Given the description of an element on the screen output the (x, y) to click on. 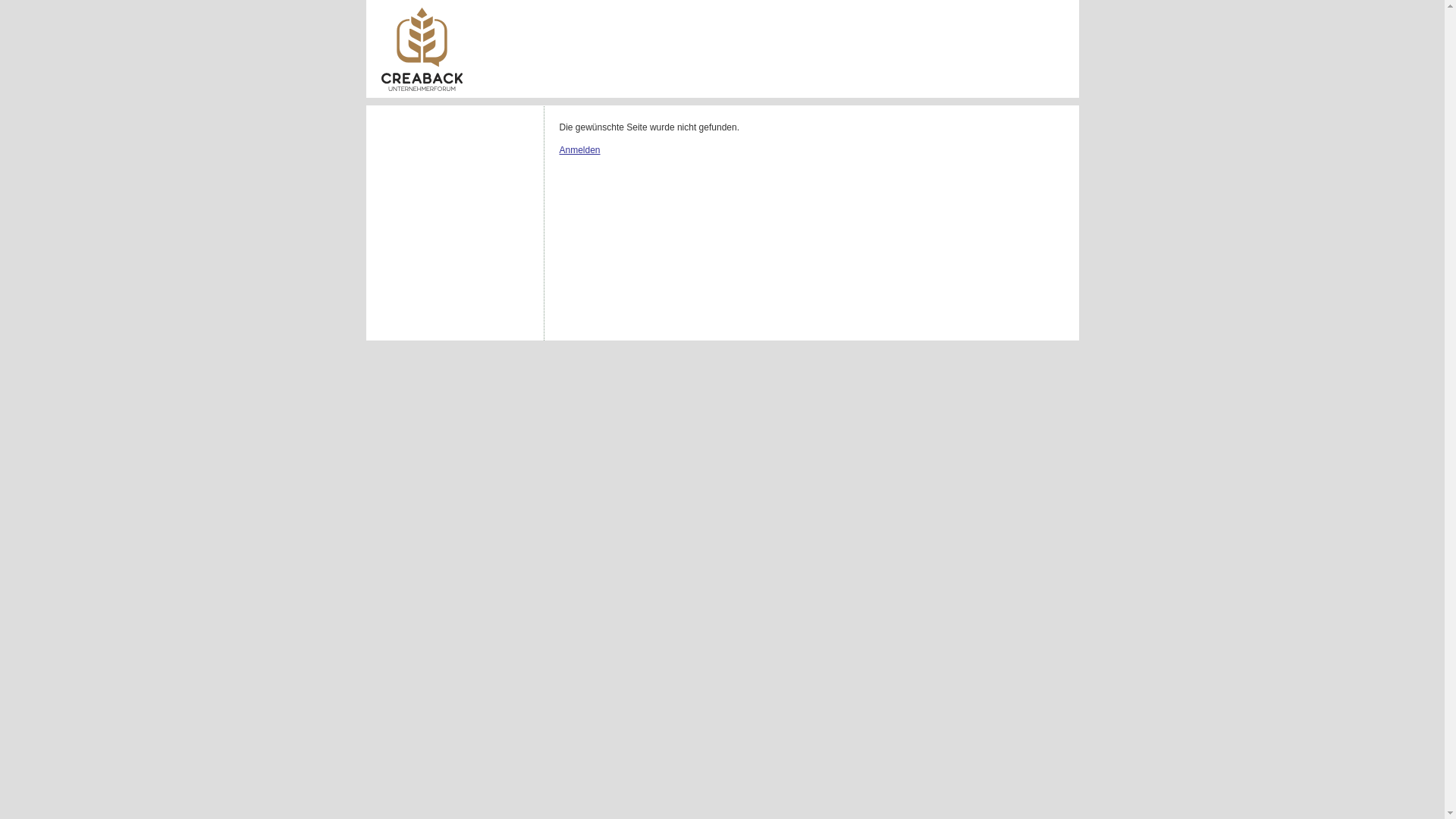
Nicht gefunden Element type: text (420, 49)
Anmelden Element type: text (579, 149)
